Given the description of an element on the screen output the (x, y) to click on. 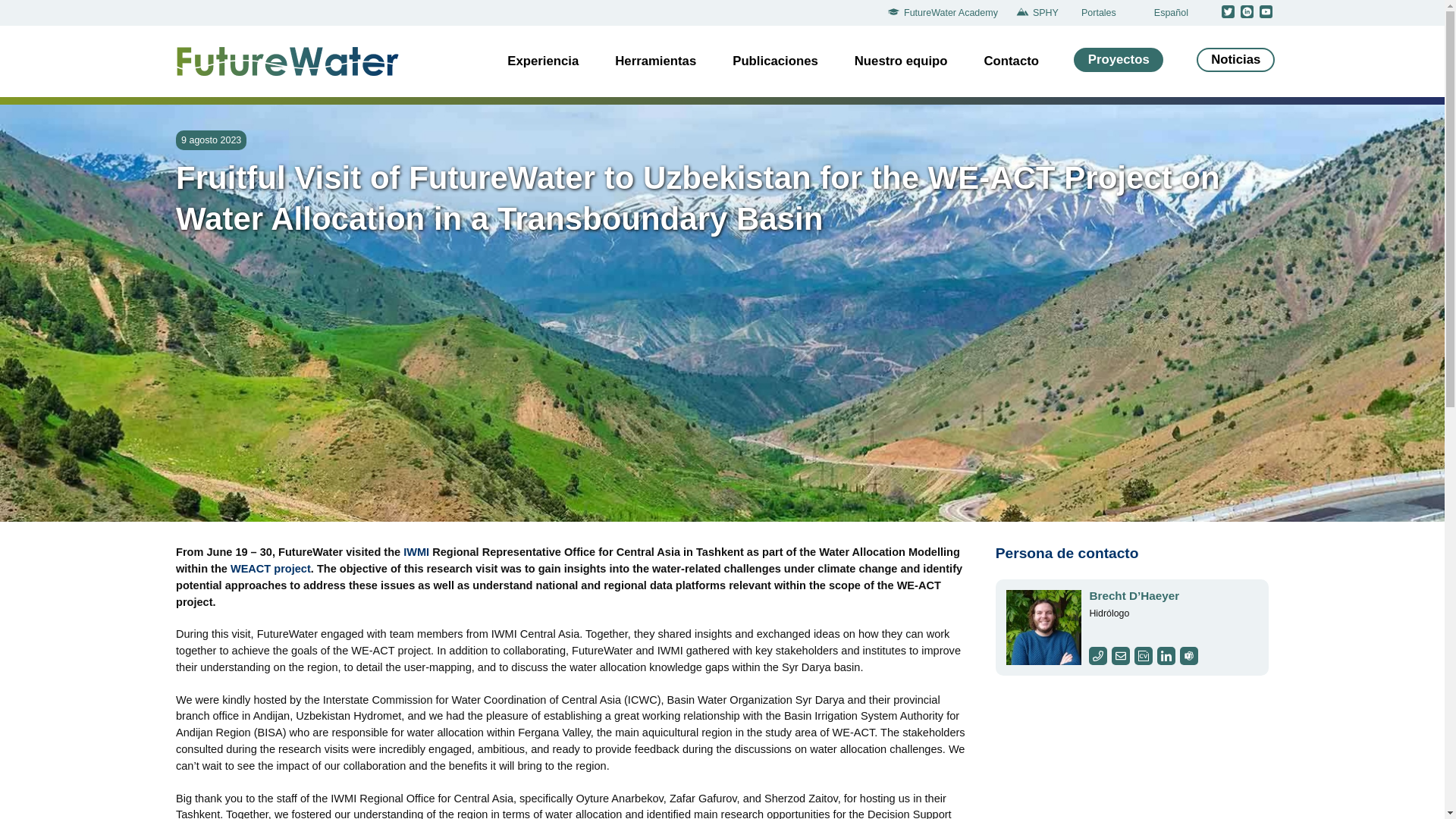
Visite el sitio web de SPHY (1040, 13)
Visite el sitio web de Futurewater Academy (946, 13)
